Given the description of an element on the screen output the (x, y) to click on. 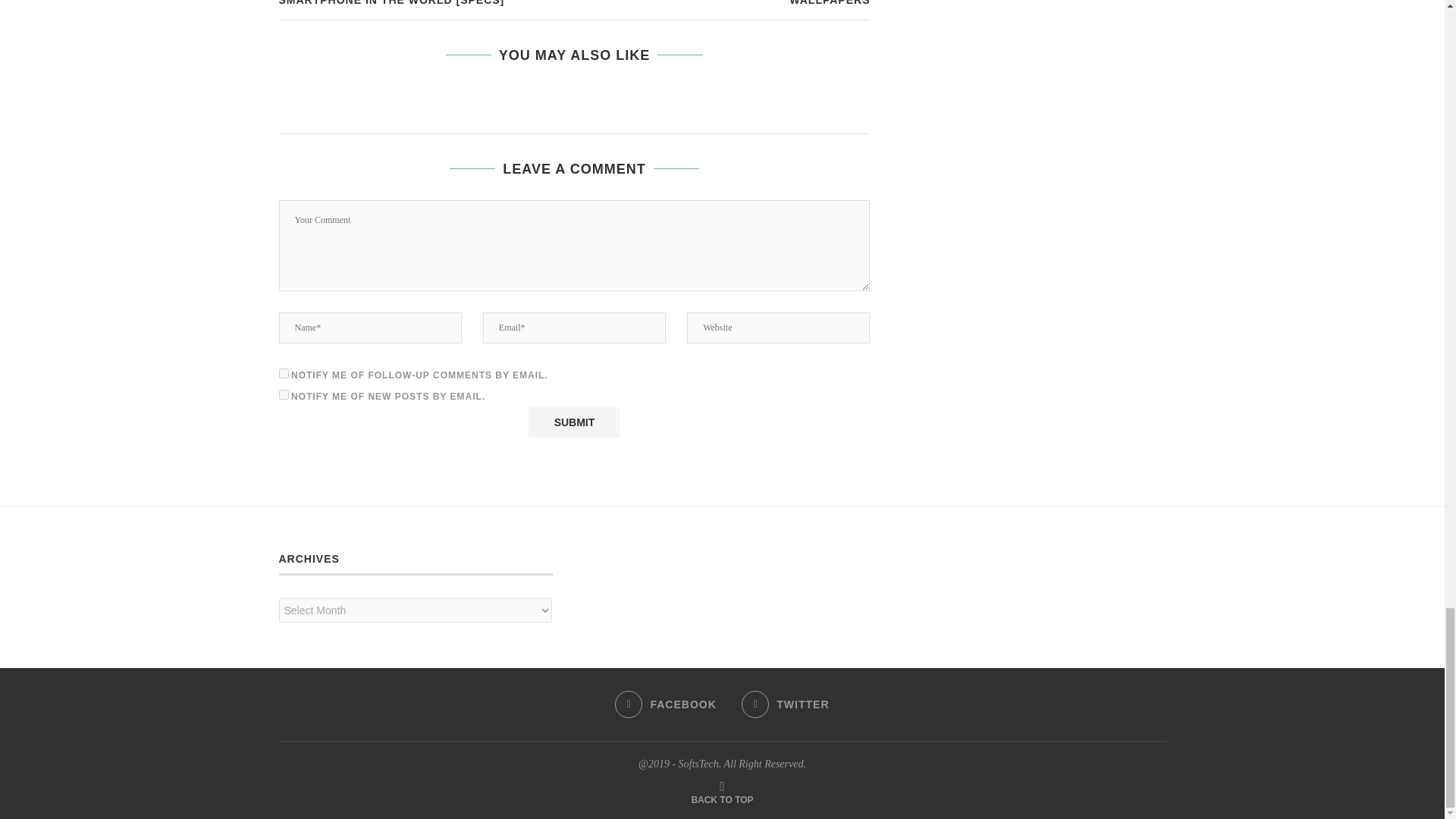
Submit (574, 422)
subscribe (283, 373)
subscribe (283, 394)
